Given the description of an element on the screen output the (x, y) to click on. 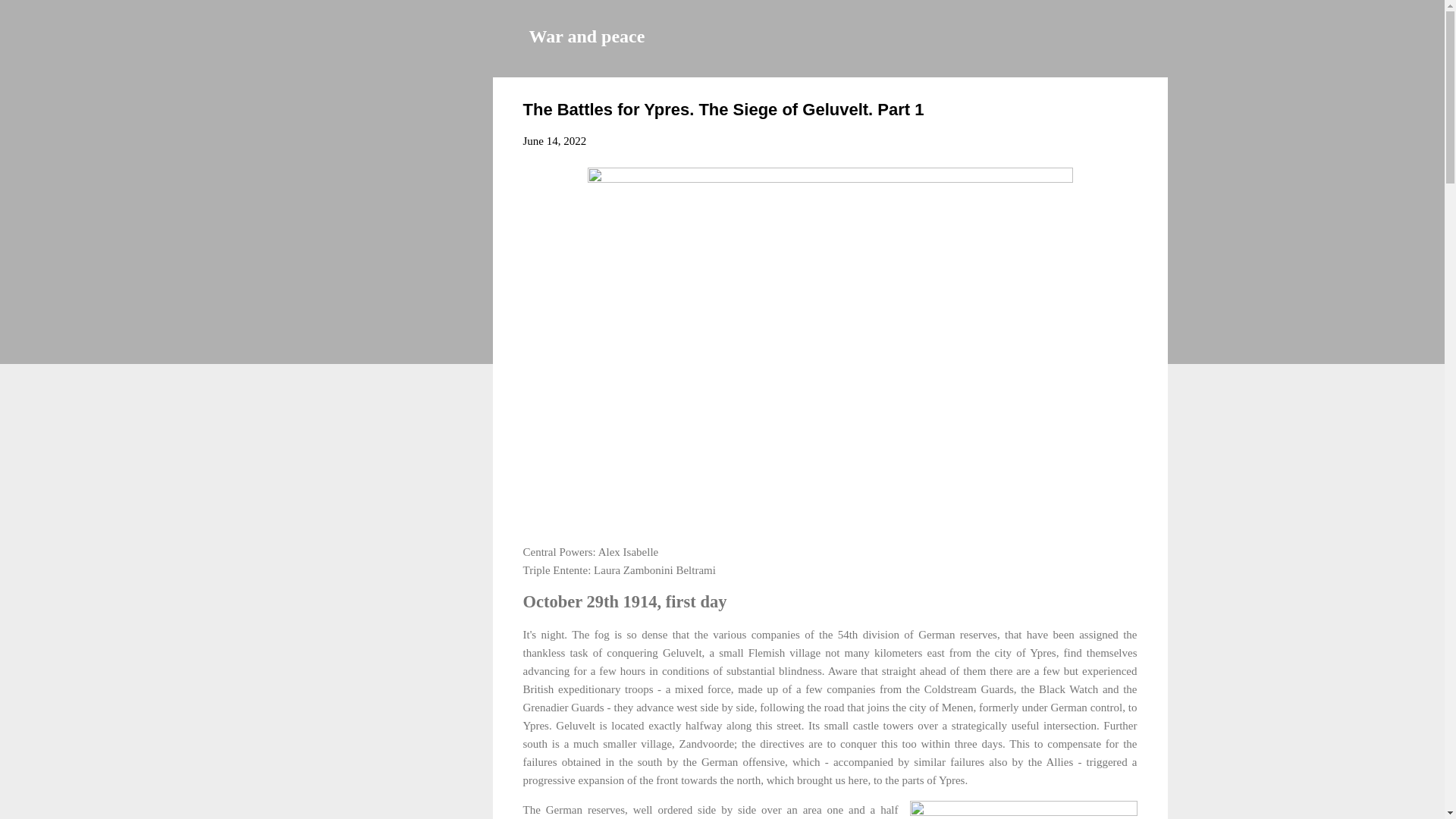
June 14, 2022 (554, 141)
War and peace (587, 35)
permanent link (554, 141)
Search (29, 18)
